Given the description of an element on the screen output the (x, y) to click on. 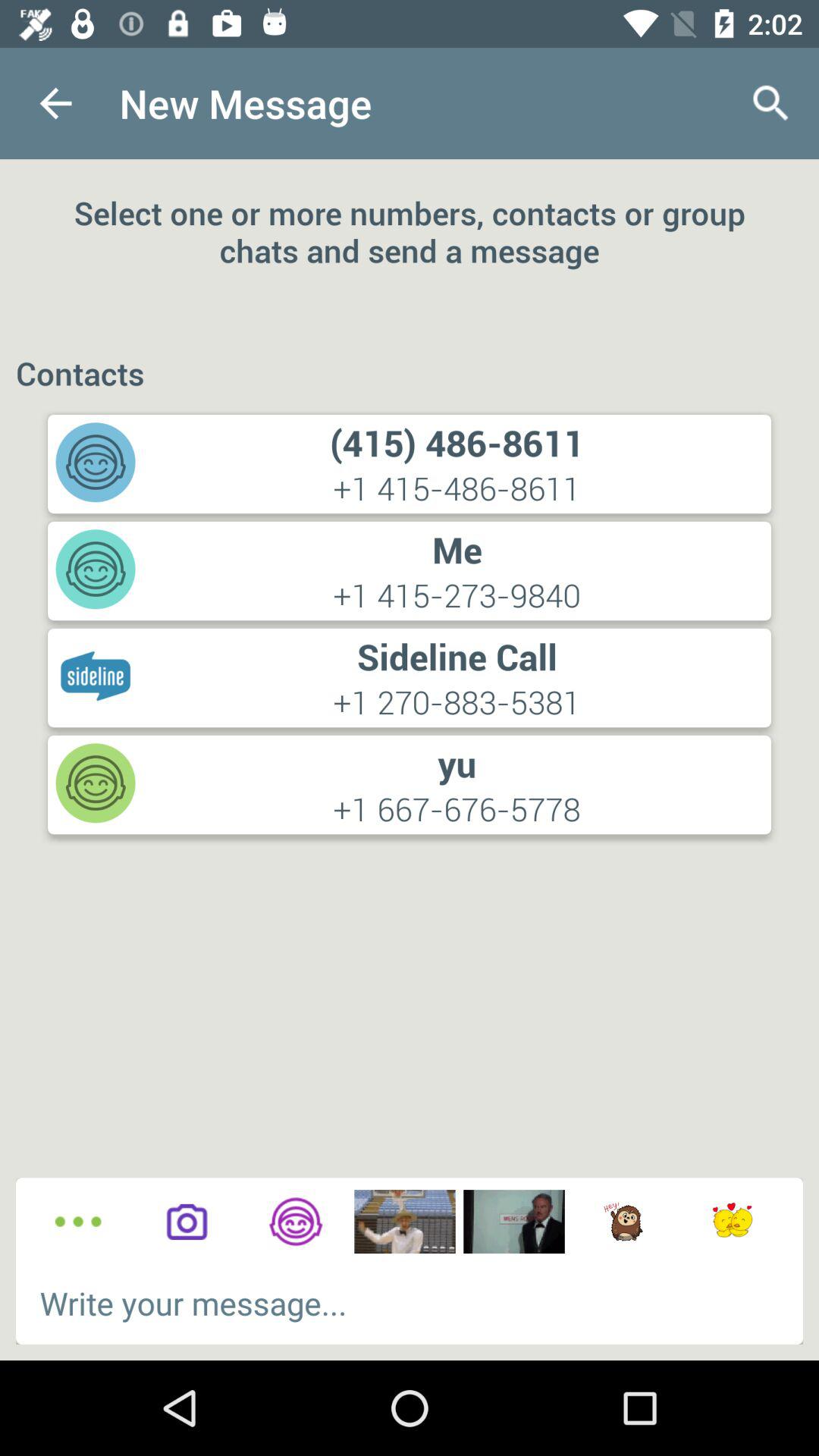
insert image into my message (404, 1221)
